Given the description of an element on the screen output the (x, y) to click on. 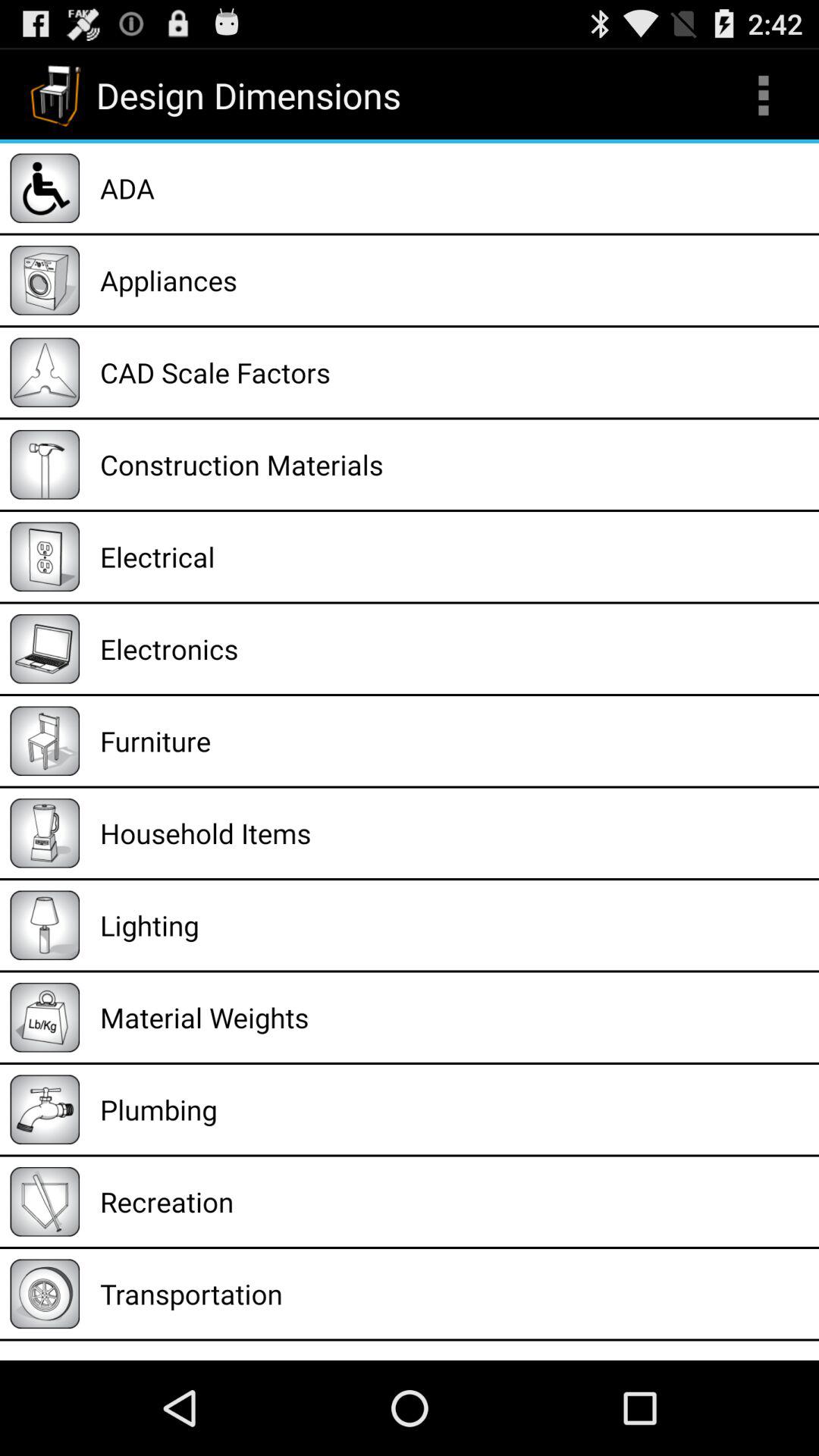
choose material weights item (454, 1017)
